Given the description of an element on the screen output the (x, y) to click on. 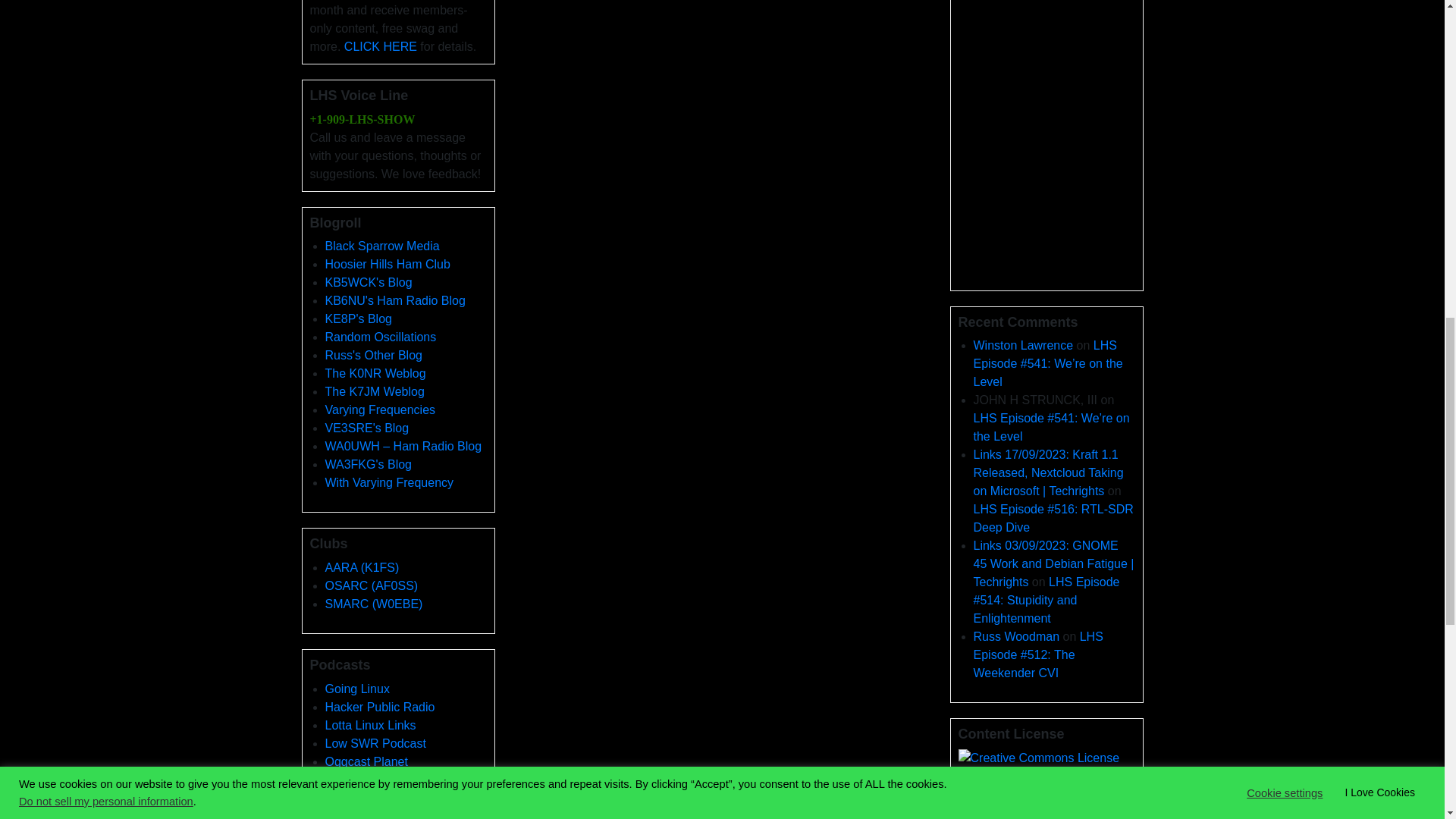
CLICK HERE (379, 46)
Black Sparrow Media (381, 245)
Hoosier Hills Ham Club (386, 264)
Having Fun with Amateur Radio (394, 300)
Black Sparrow Media (381, 245)
Hoosier Hills Ham Club (386, 264)
